Given the description of an element on the screen output the (x, y) to click on. 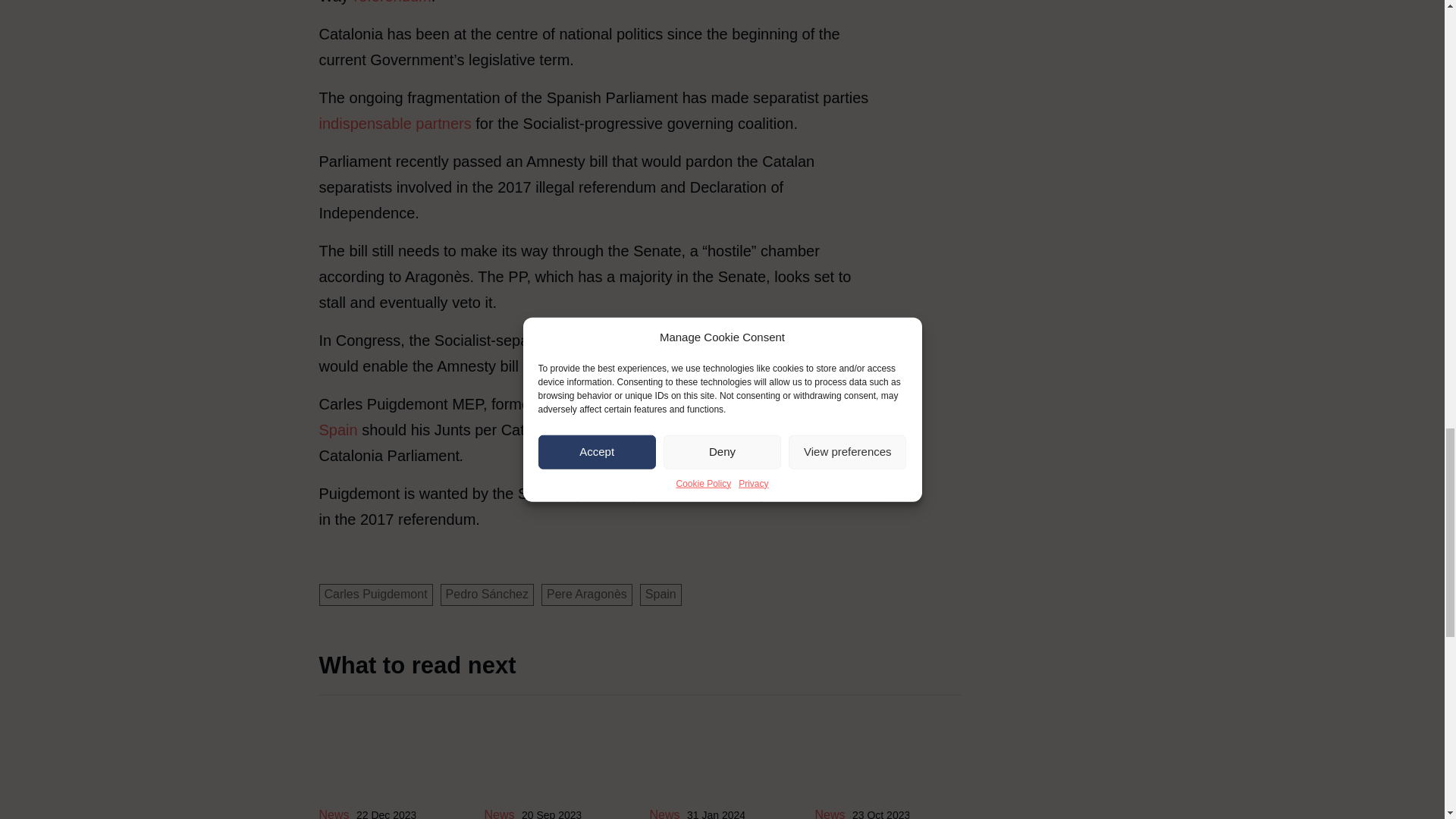
indispensable partners (394, 123)
return to Spain (583, 416)
referendum (391, 2)
Carles Puigdemont (375, 594)
